Given the description of an element on the screen output the (x, y) to click on. 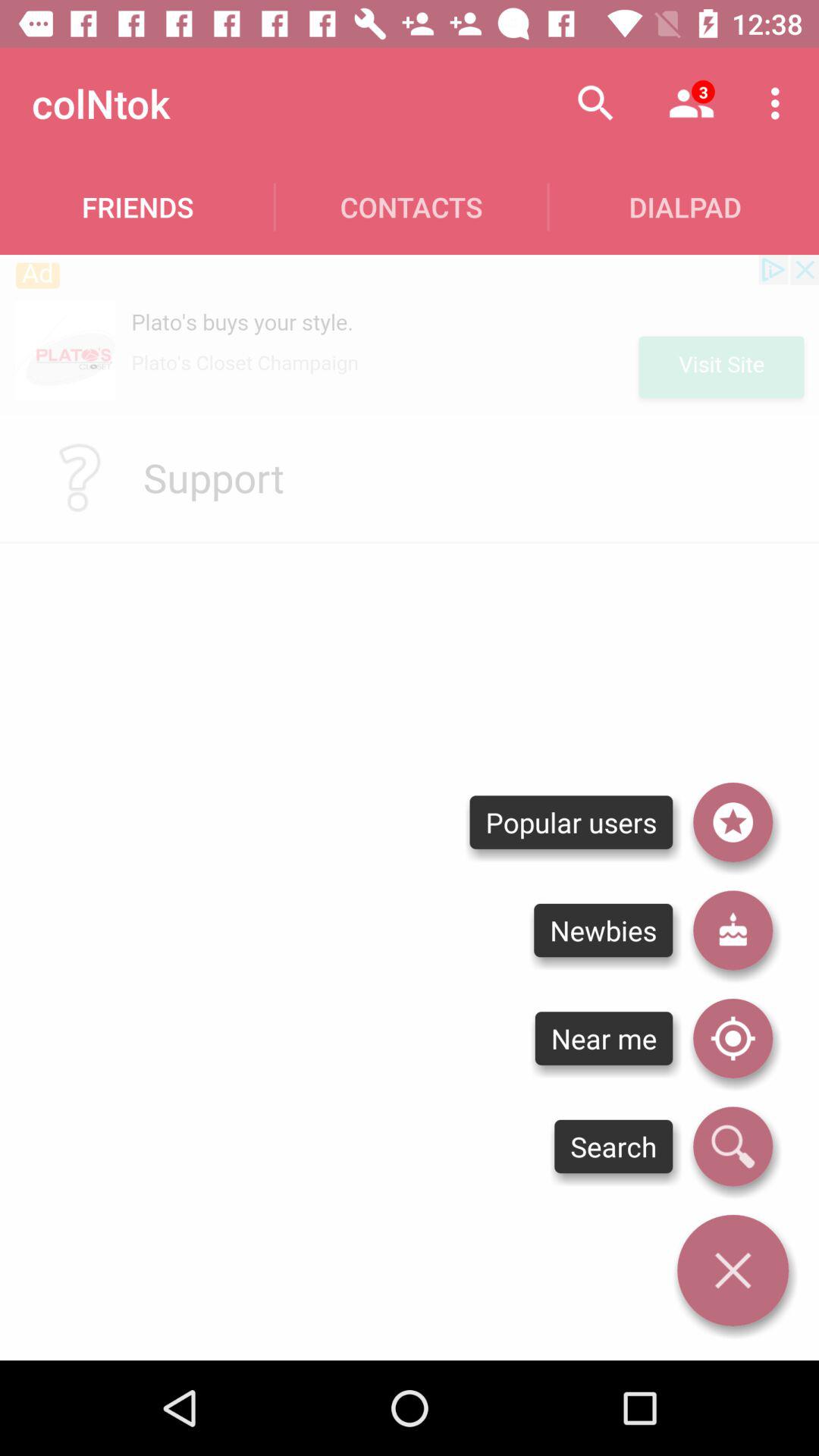
close this window (733, 1270)
